Given the description of an element on the screen output the (x, y) to click on. 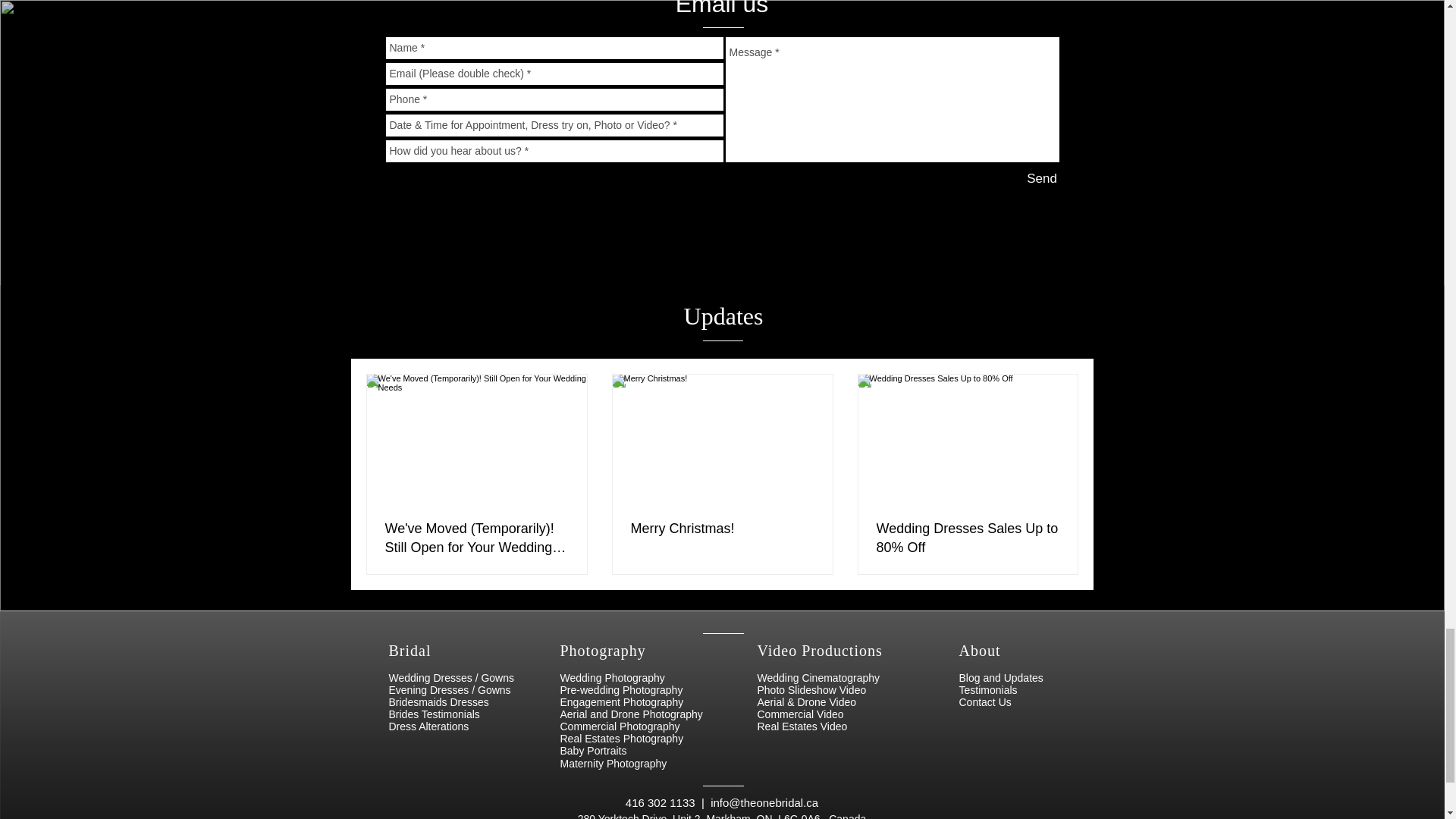
Bridesmaids Dresses (437, 702)
Send (1041, 178)
Merry Christmas! (721, 528)
